Given the description of an element on the screen output the (x, y) to click on. 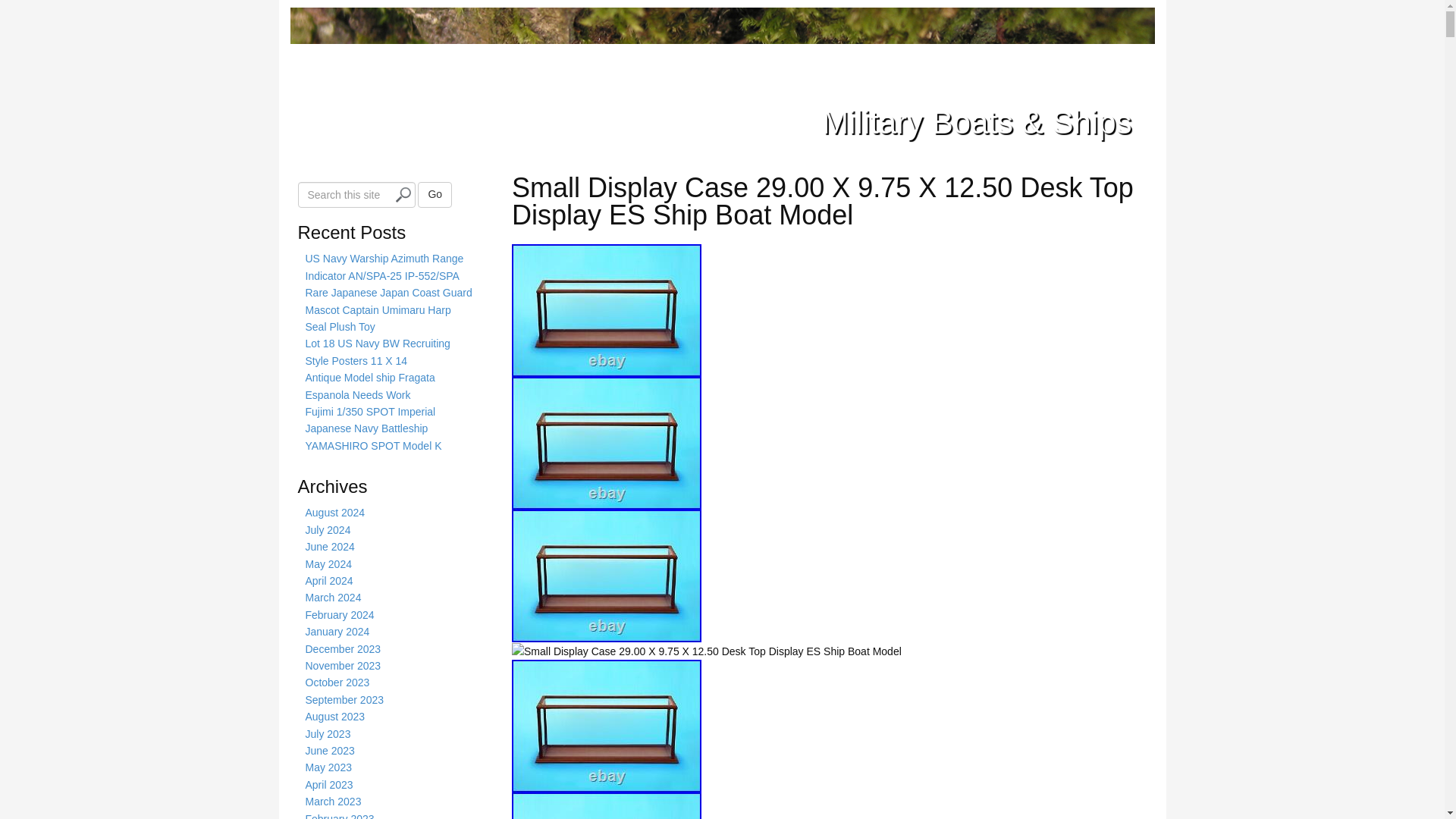
September 2023 (344, 699)
August 2024 (334, 512)
February 2024 (339, 614)
Antique Model ship Fragata Espanola Needs Work (368, 385)
Lot 18 US Navy BW Recruiting Style Posters 11 X 14 (376, 351)
December 2023 (342, 648)
October 2023 (336, 682)
November 2023 (342, 665)
